Given the description of an element on the screen output the (x, y) to click on. 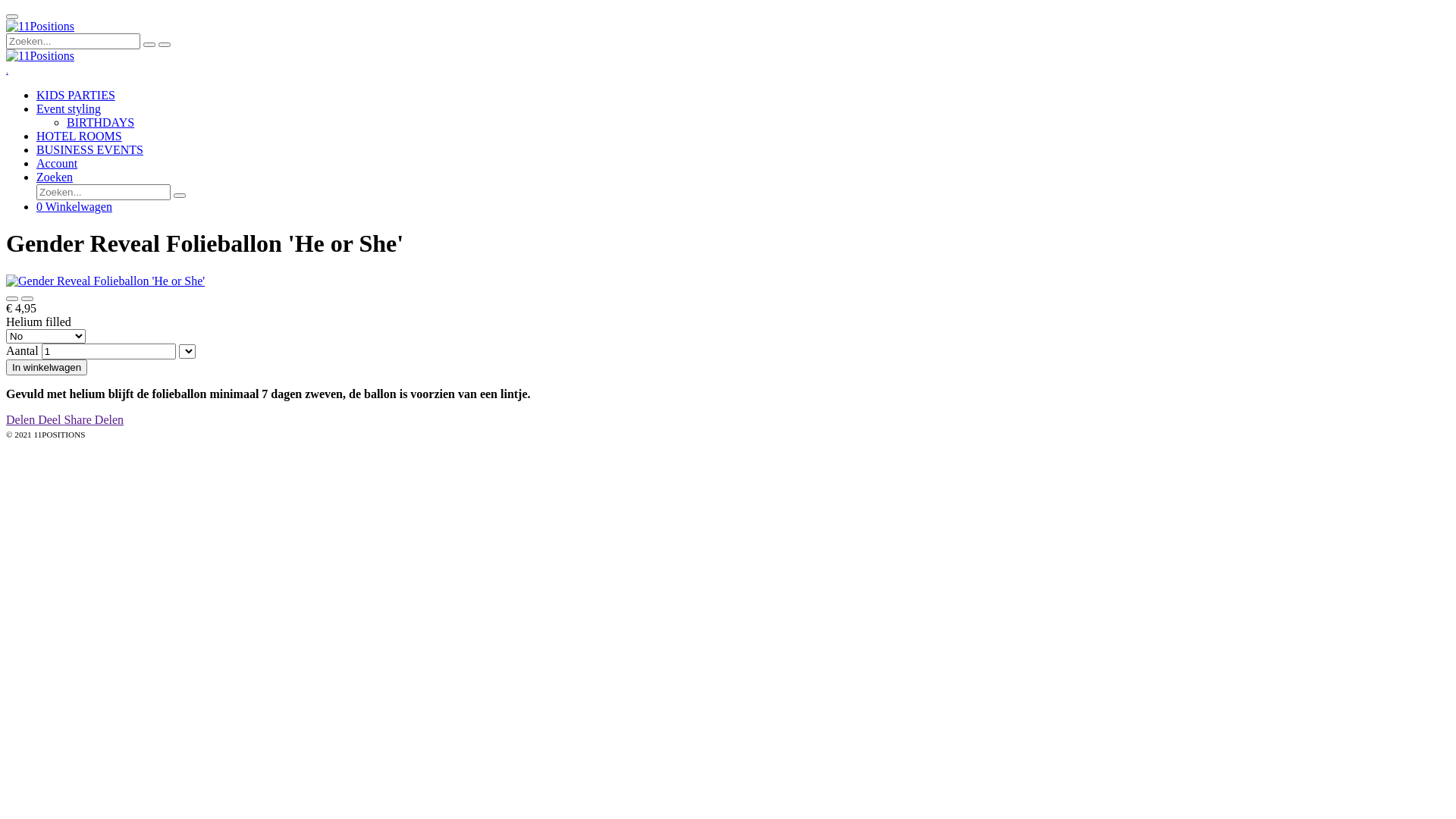
0 Winkelwagen Element type: text (74, 206)
Deel Element type: text (50, 419)
Delen Element type: text (21, 419)
HOTEL ROOMS Element type: text (79, 135)
Share Element type: text (78, 419)
Zoeken Element type: text (54, 176)
11Positions Element type: hover (40, 26)
Account Element type: text (56, 162)
KIDS PARTIES Element type: text (75, 94)
Delen Element type: text (108, 419)
11Positions Element type: hover (40, 55)
. Element type: text (7, 68)
Event styling Element type: text (68, 108)
BUSINESS EVENTS Element type: text (89, 149)
BIRTHDAYS Element type: text (100, 122)
In winkelwagen Element type: text (46, 367)
